Given the description of an element on the screen output the (x, y) to click on. 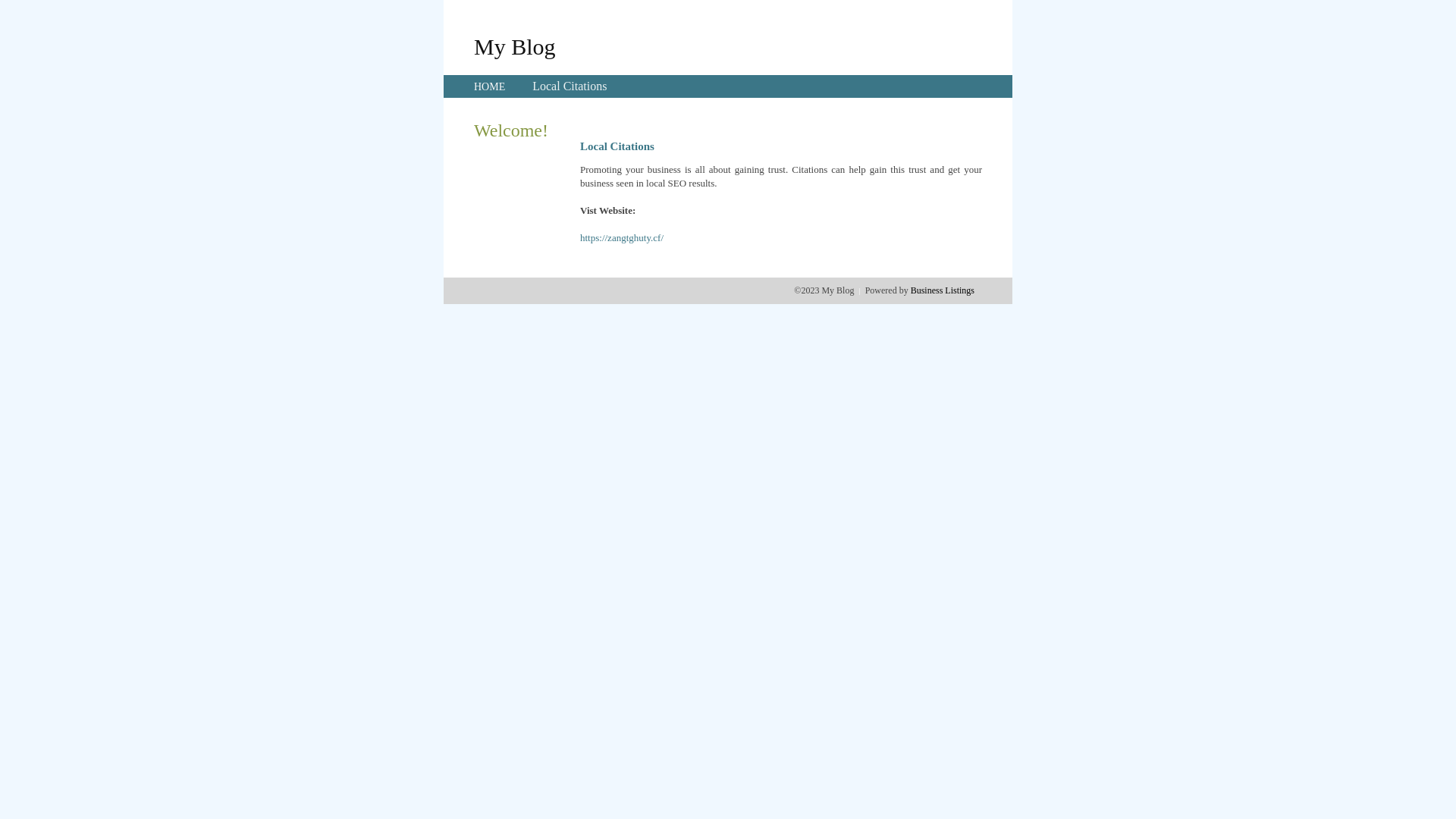
My Blog Element type: text (514, 46)
HOME Element type: text (489, 86)
Business Listings Element type: text (942, 290)
https://zangtghuty.cf/ Element type: text (621, 237)
Local Citations Element type: text (569, 85)
